Given the description of an element on the screen output the (x, y) to click on. 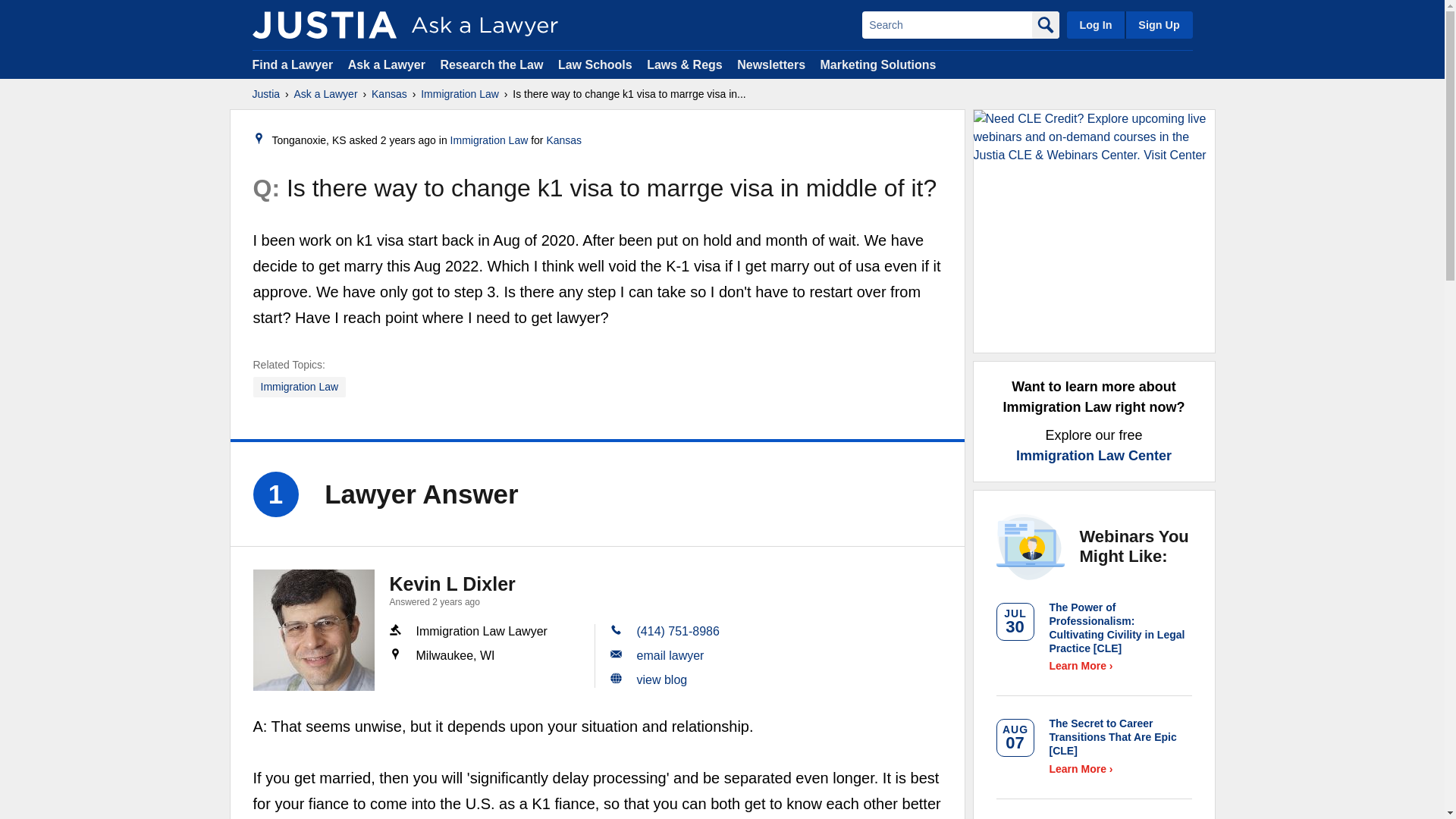
Kevin L Dixler (452, 583)
Ask a Lawyer (326, 93)
Kansas (563, 140)
Immigration Law (459, 93)
Ask a Lawyer (388, 64)
Find a Lawyer (292, 64)
Newsletters (770, 64)
Search (945, 24)
email lawyer (670, 655)
view blog (662, 679)
Immigration Law (299, 386)
Sign Up (1158, 24)
Kevin L Dixler (313, 630)
Law Schools (594, 64)
Research the Law (491, 64)
